Given the description of an element on the screen output the (x, y) to click on. 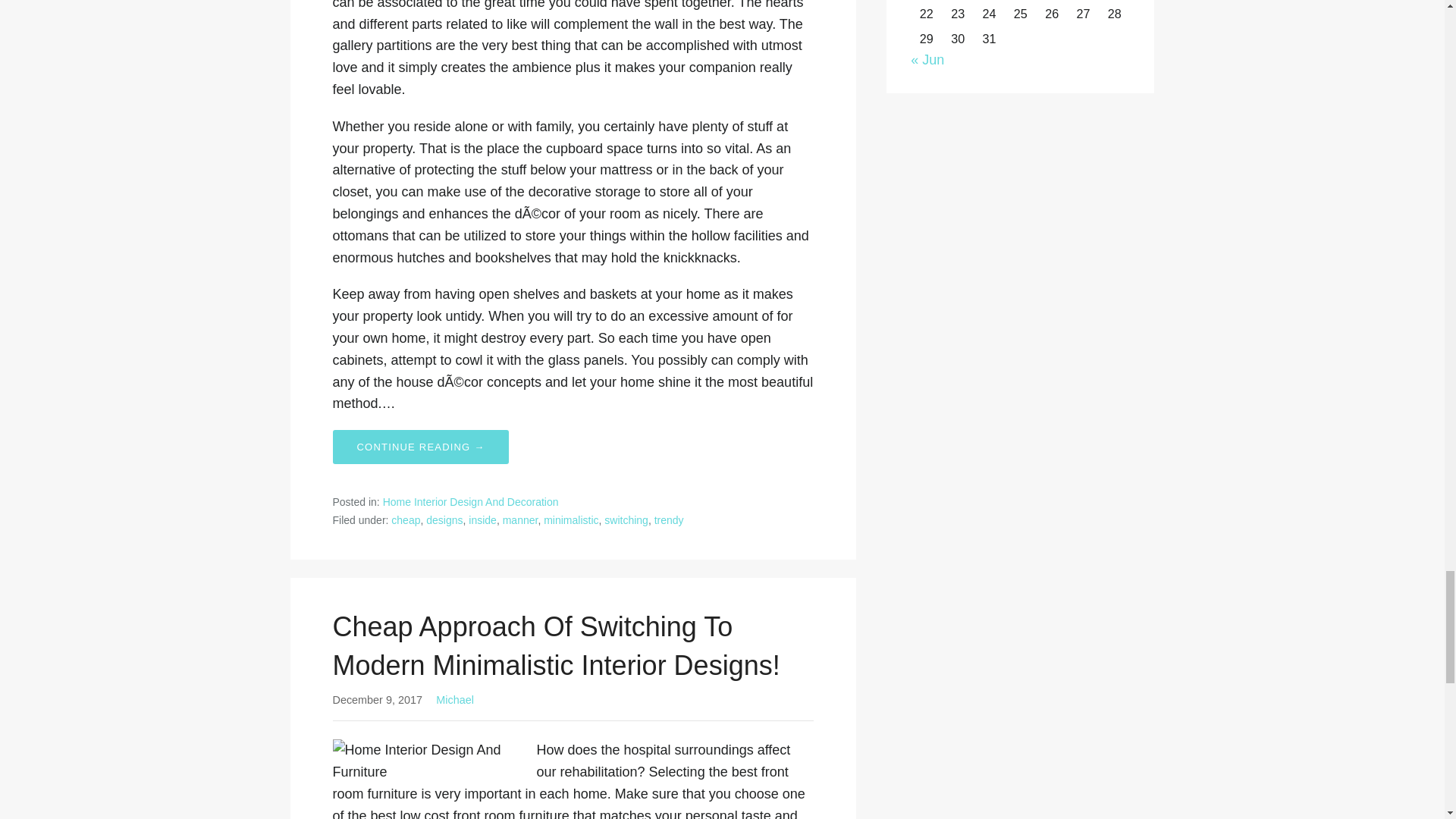
cheap (405, 520)
Home Interior Design And Decoration (470, 501)
manner (520, 520)
inside (482, 520)
trendy (668, 520)
minimalistic (570, 520)
switching (625, 520)
Posts by Michael (454, 699)
designs (444, 520)
